Given the description of an element on the screen output the (x, y) to click on. 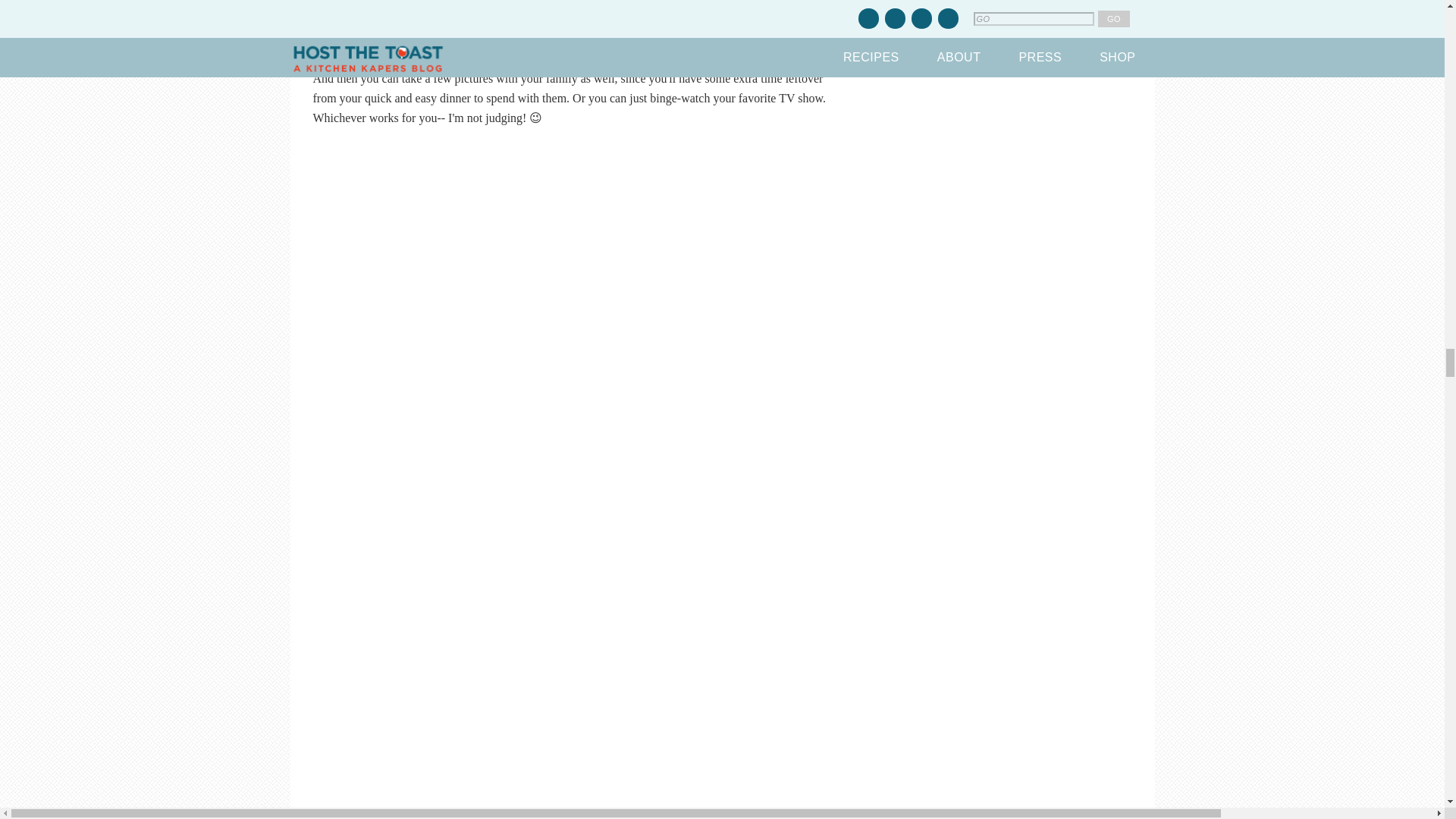
You Made It page (488, 35)
Instagram (571, 15)
